Given the description of an element on the screen output the (x, y) to click on. 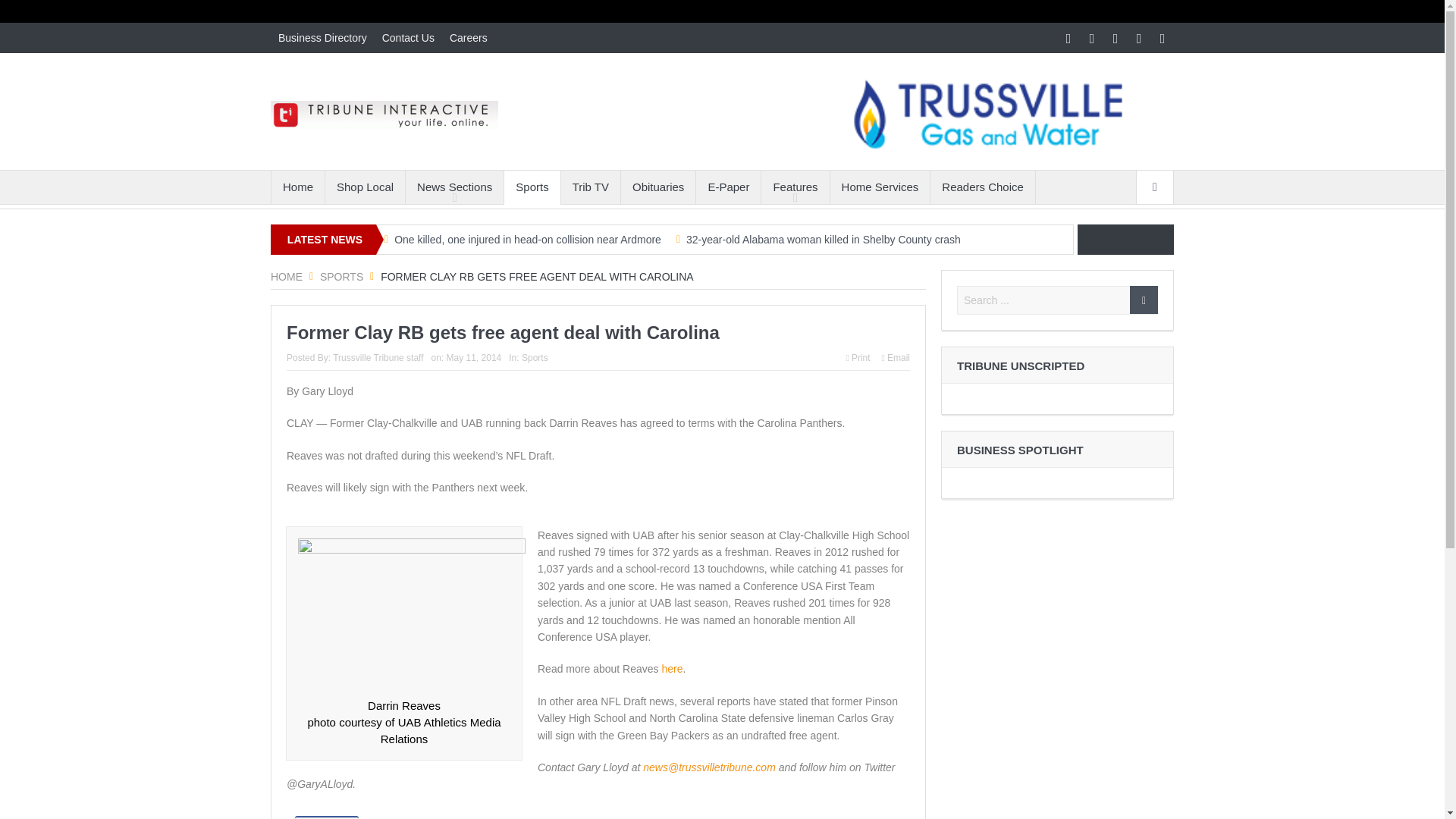
Sports (341, 276)
Careers (468, 37)
Sports (531, 186)
Readers Choice (982, 186)
Darrin Reaves (411, 614)
Shop Local (364, 186)
Contact Us (408, 37)
News Sections (454, 186)
Business Directory (322, 37)
Features (794, 186)
Obituaries (658, 186)
Share on Facebook (326, 817)
Trib TV (590, 186)
Home (297, 186)
E-Paper (727, 186)
